Given the description of an element on the screen output the (x, y) to click on. 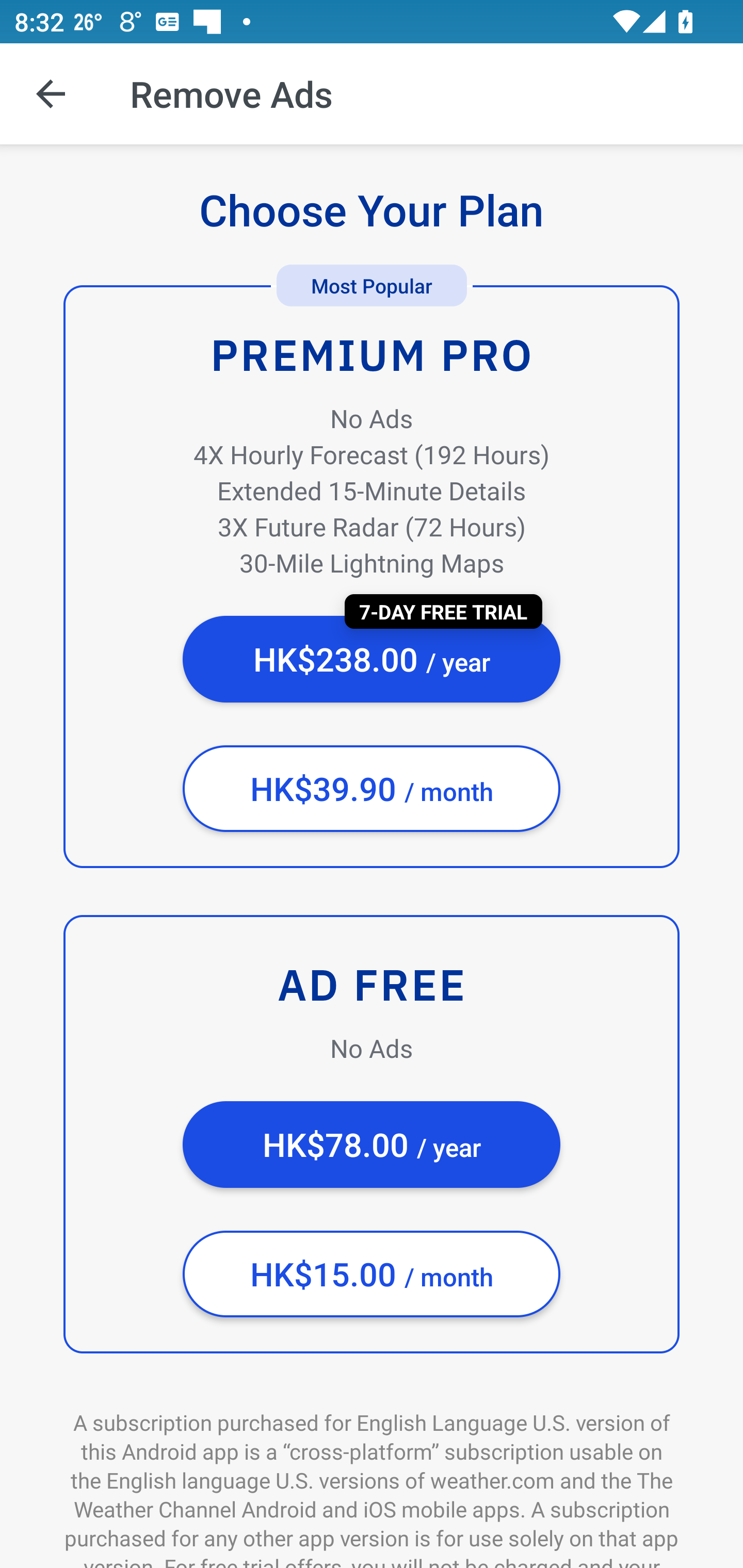
Navigate up (50, 93)
HK$238.00 / year (371, 659)
HK$39.90 / month (371, 788)
HK$78.00 / year (371, 1144)
HK$15.00 / month (371, 1273)
